Given the description of an element on the screen output the (x, y) to click on. 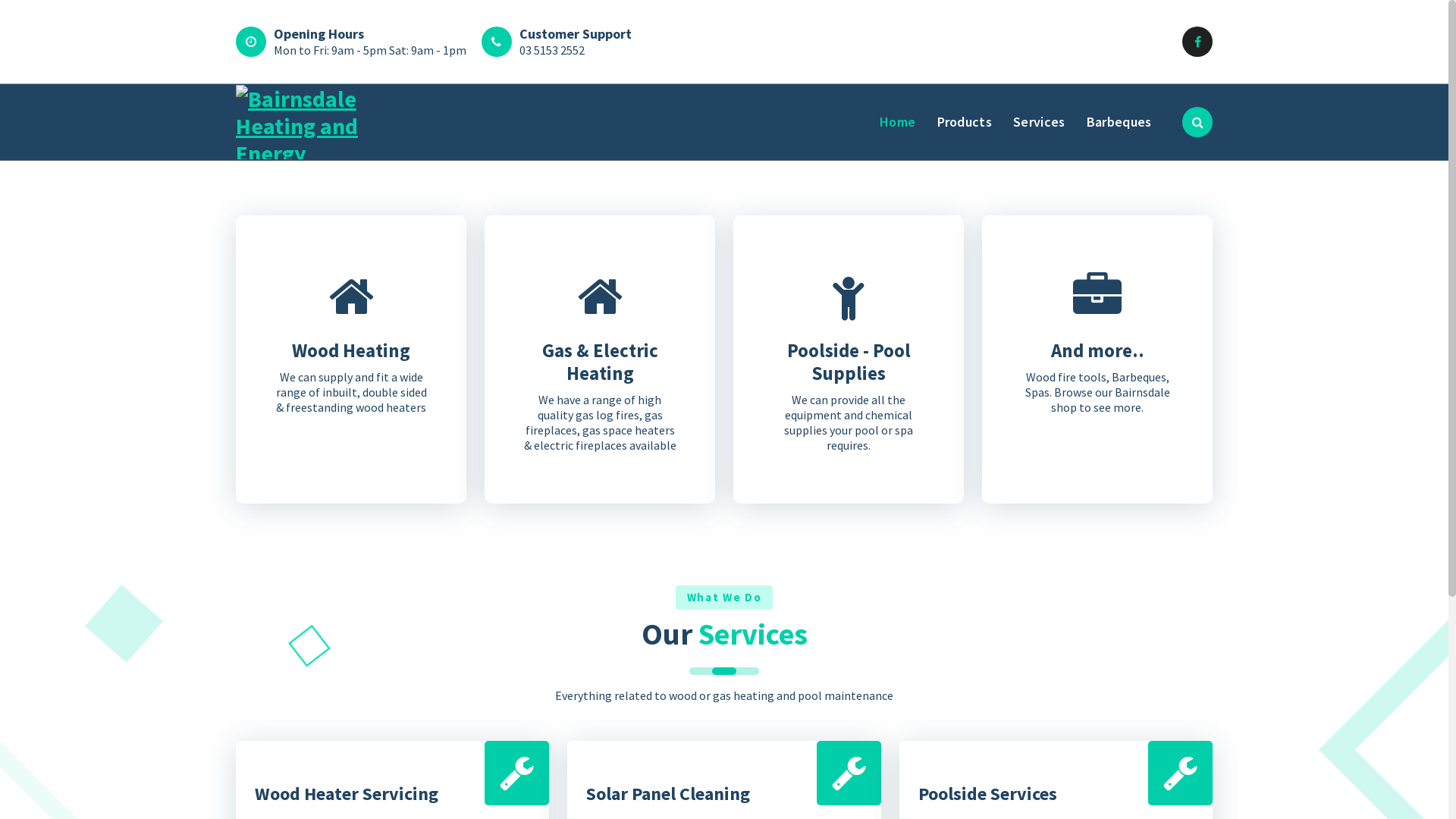
Barbeques Element type: text (1118, 122)
And more.. Element type: text (1097, 350)
Services Element type: text (1039, 122)
03 5153 2552 Element type: text (551, 49)
Wood Heating Element type: text (350, 350)
Solar Panel Cleaning Element type: text (667, 793)
Mon to Fri: 9am - 5pm Sat: 9am - 1pm Element type: text (369, 49)
Poolside - Pool Supplies Element type: text (848, 361)
Gas & Electric Heating Element type: text (599, 361)
CoziPress Element type: text (1181, 776)
Poolside Services Element type: text (987, 793)
Products Element type: text (964, 122)
Home Element type: text (897, 122)
Wood Heater Servicing Element type: text (346, 793)
